Given the description of an element on the screen output the (x, y) to click on. 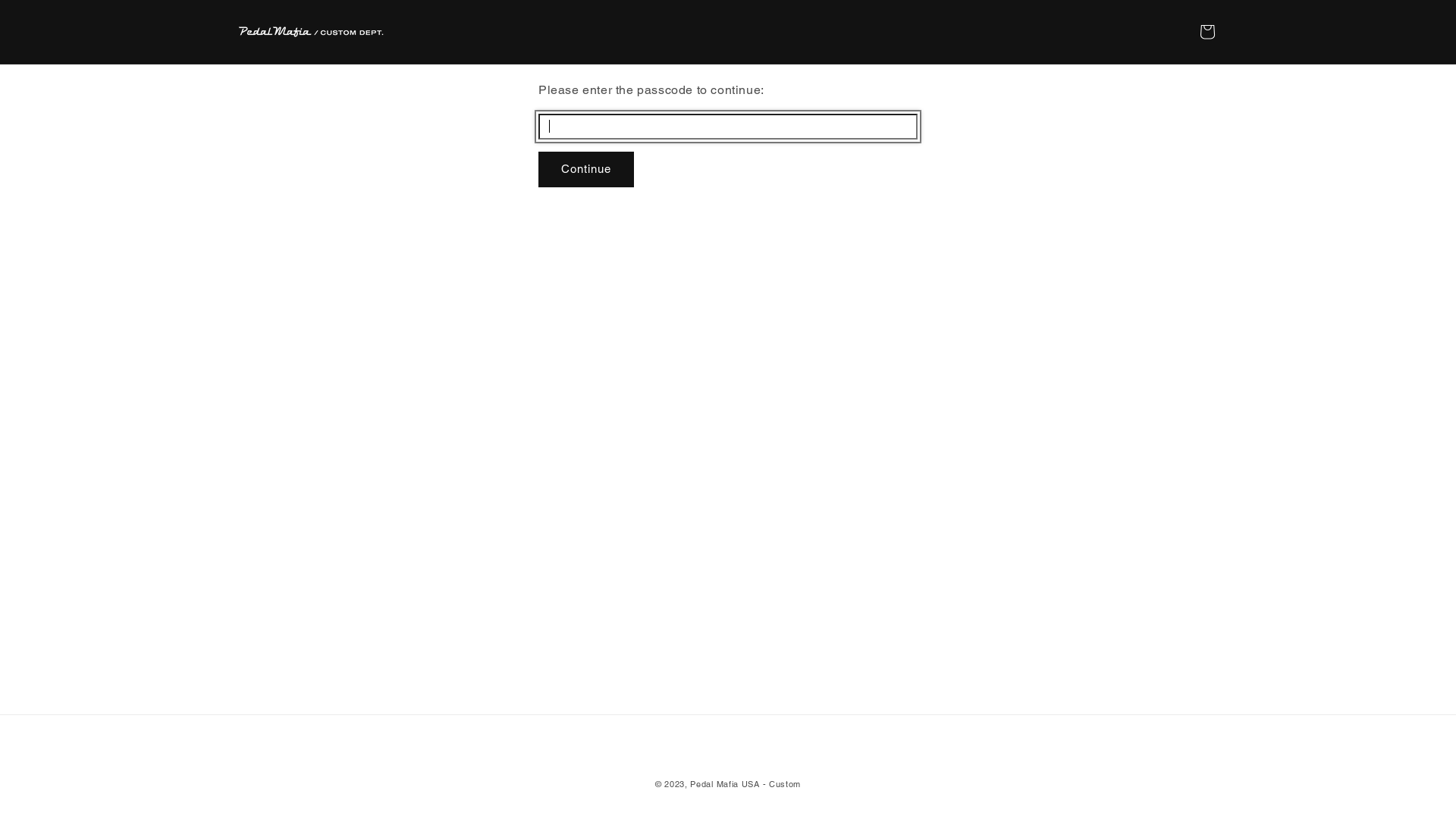
Continue Element type: text (585, 169)
Pedal Mafia USA - Custom Element type: text (745, 783)
Cart Element type: text (1206, 31)
